Given the description of an element on the screen output the (x, y) to click on. 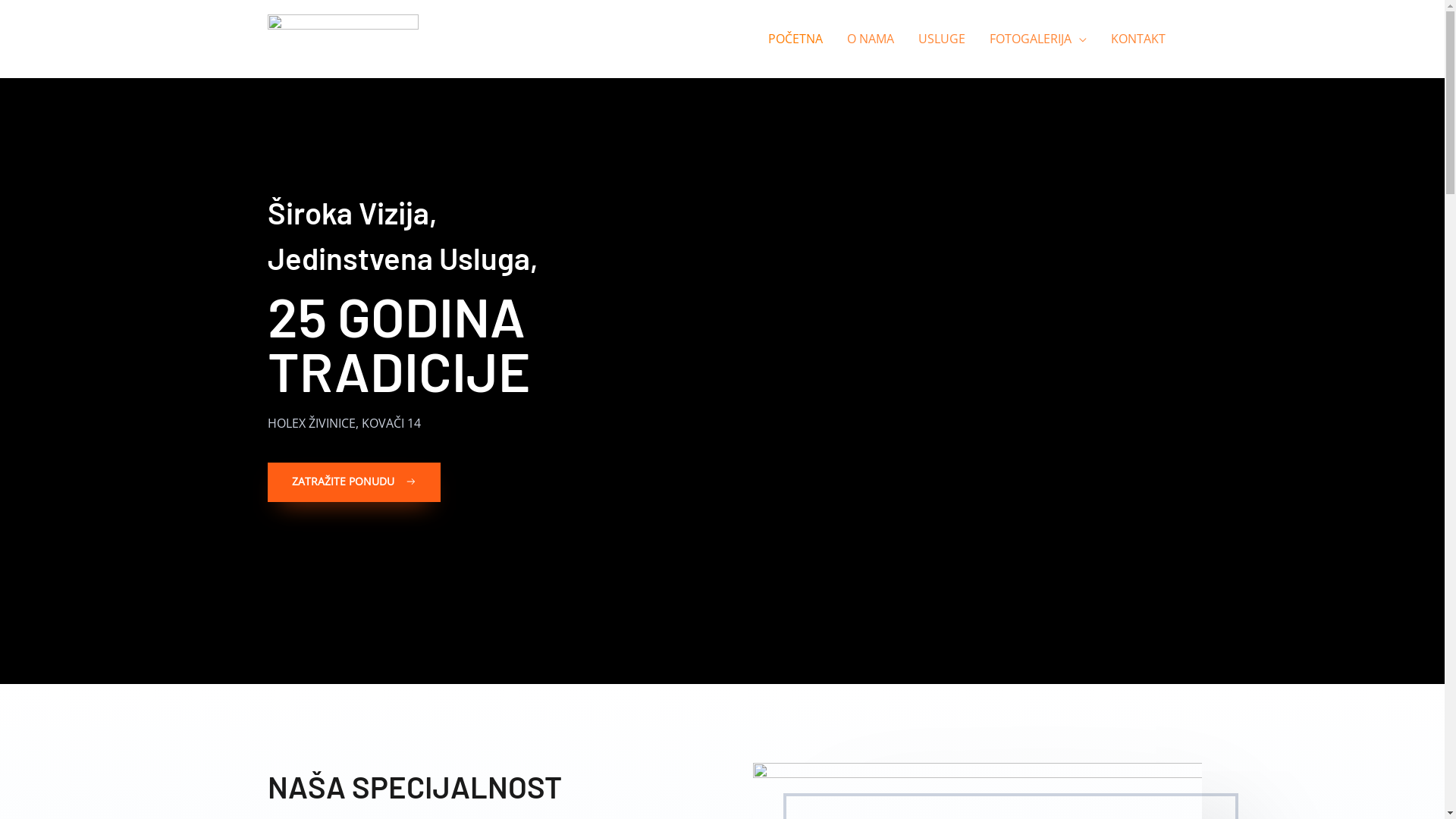
FOTOGALERIJA Element type: text (1037, 38)
USLUGE Element type: text (940, 38)
O NAMA Element type: text (869, 38)
KONTAKT Element type: text (1137, 38)
